Given the description of an element on the screen output the (x, y) to click on. 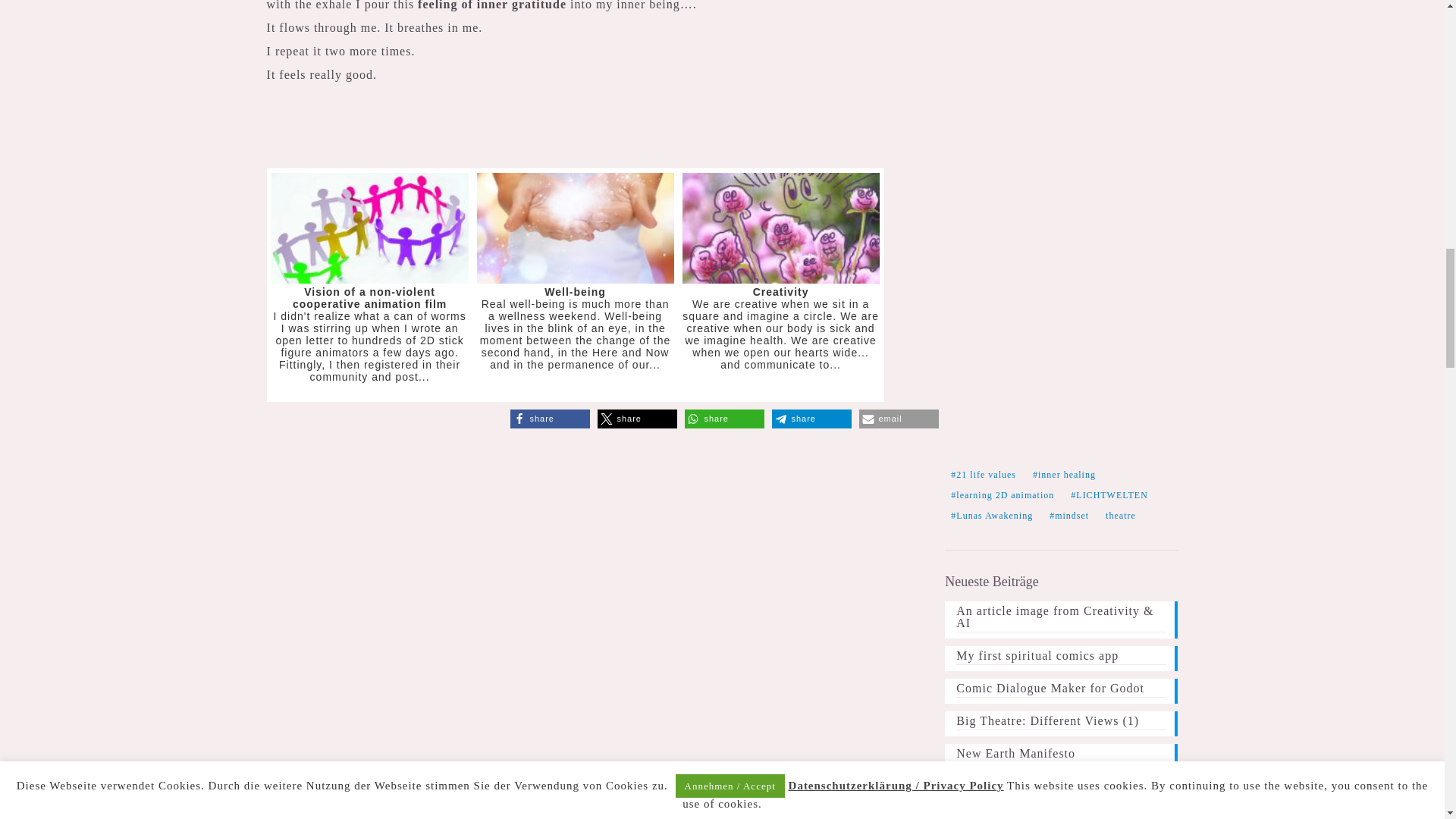
Share on Facebook (550, 418)
Share on Whatsapp (724, 418)
Send by email (899, 418)
share  (636, 418)
Share on X (636, 418)
Comic Dialogue Maker for Godot (1061, 689)
email  (899, 418)
share  (550, 418)
My first spiritual comics app (1061, 657)
share  (811, 418)
theatre (1120, 515)
Share on Telegram (811, 418)
share  (724, 418)
New Earth Manifesto (1061, 754)
